Given the description of an element on the screen output the (x, y) to click on. 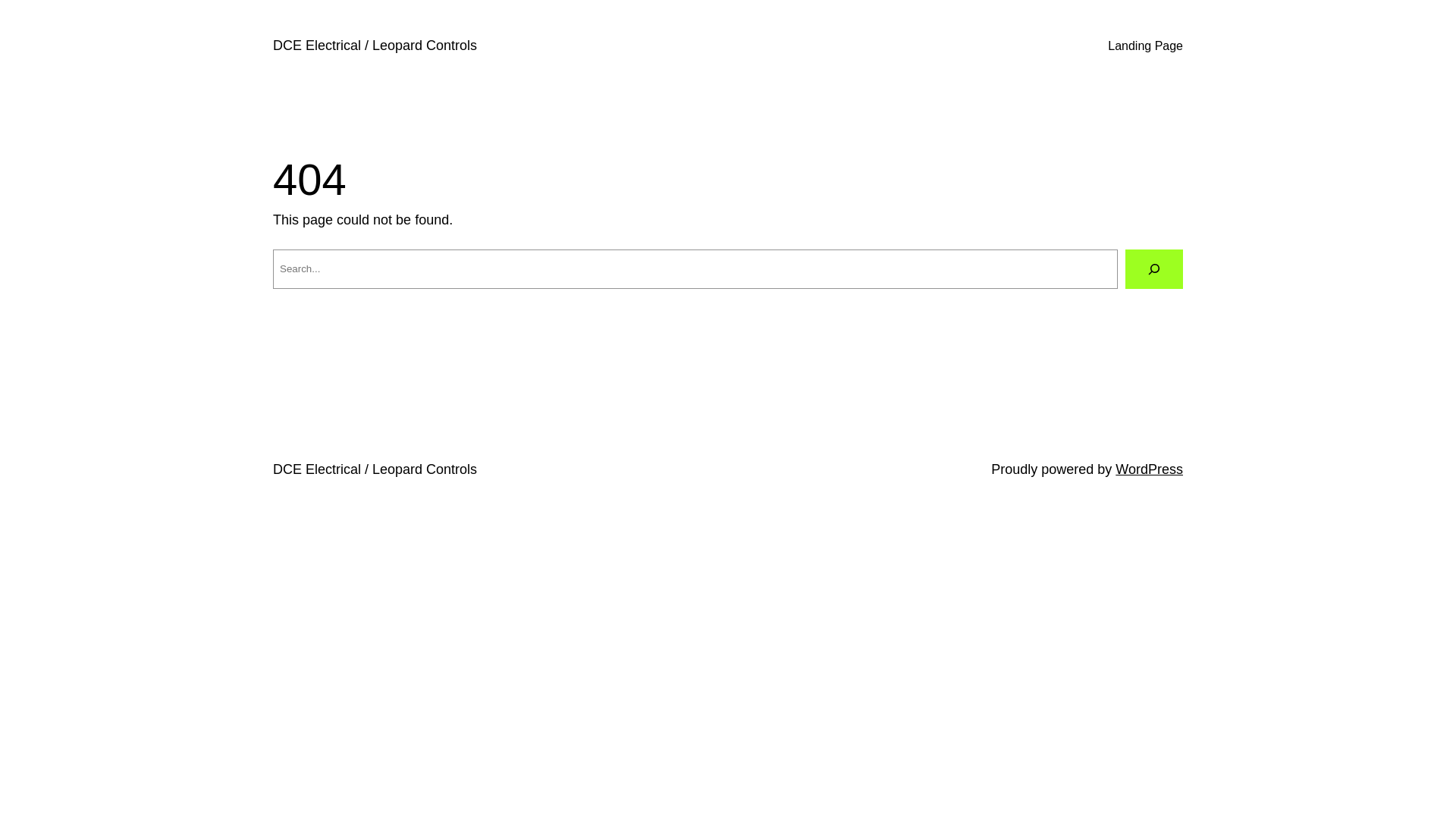
DCE Electrical / Leopard Controls Element type: text (374, 468)
Landing Page Element type: text (1145, 46)
WordPress Element type: text (1149, 468)
DCE Electrical / Leopard Controls Element type: text (374, 45)
